Given the description of an element on the screen output the (x, y) to click on. 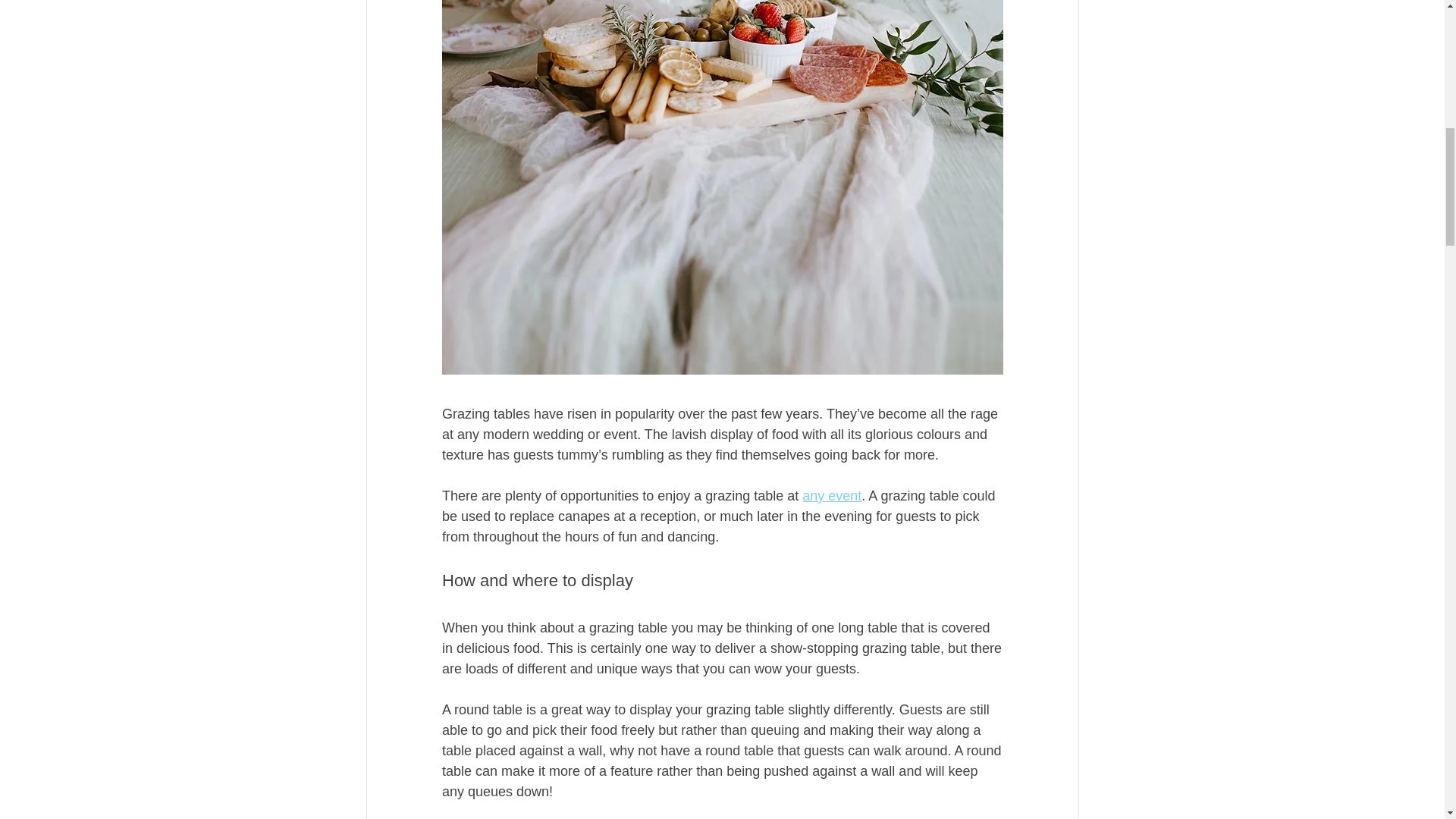
any event (831, 495)
